Given the description of an element on the screen output the (x, y) to click on. 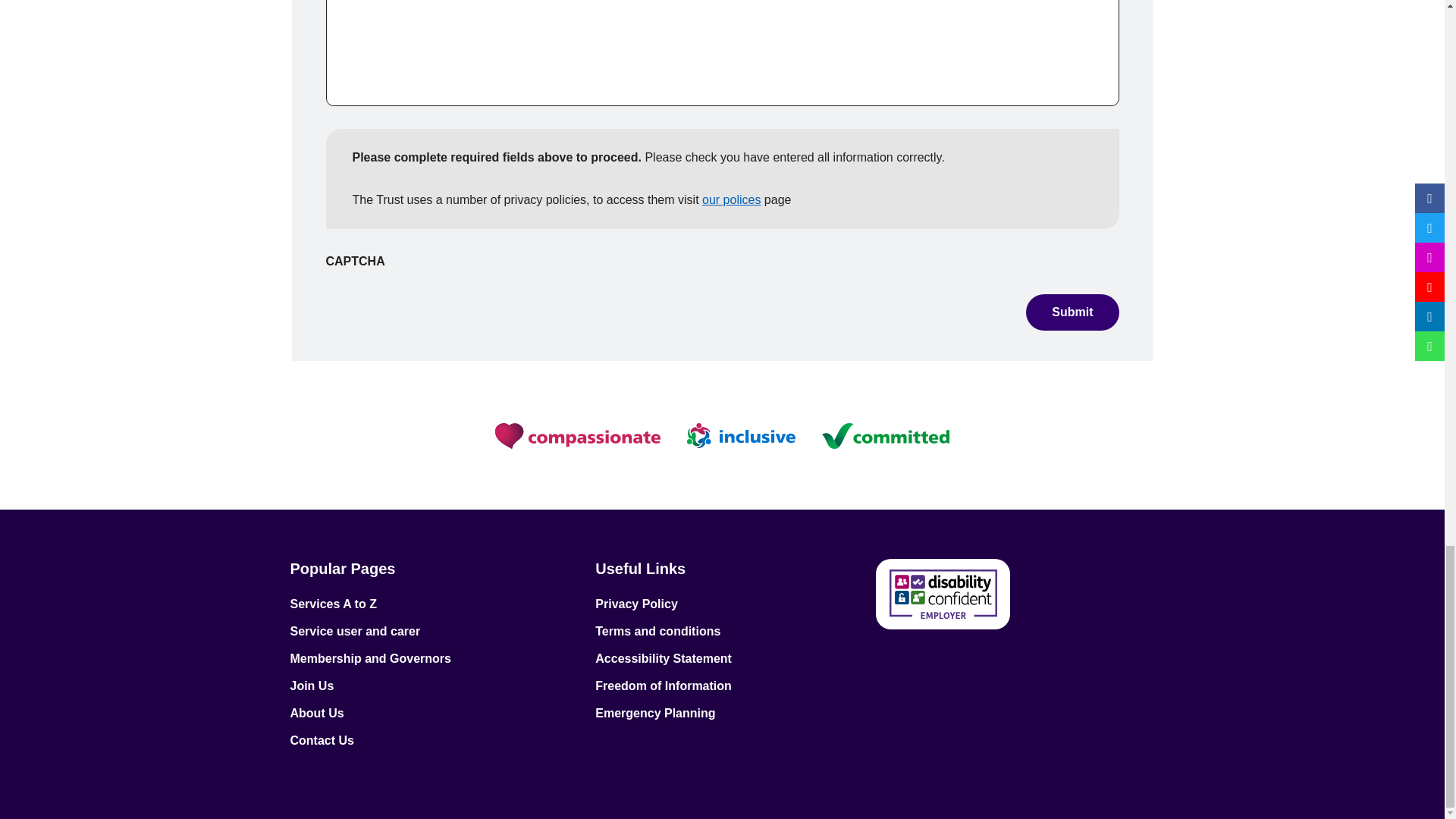
Submit (1072, 312)
